Given the description of an element on the screen output the (x, y) to click on. 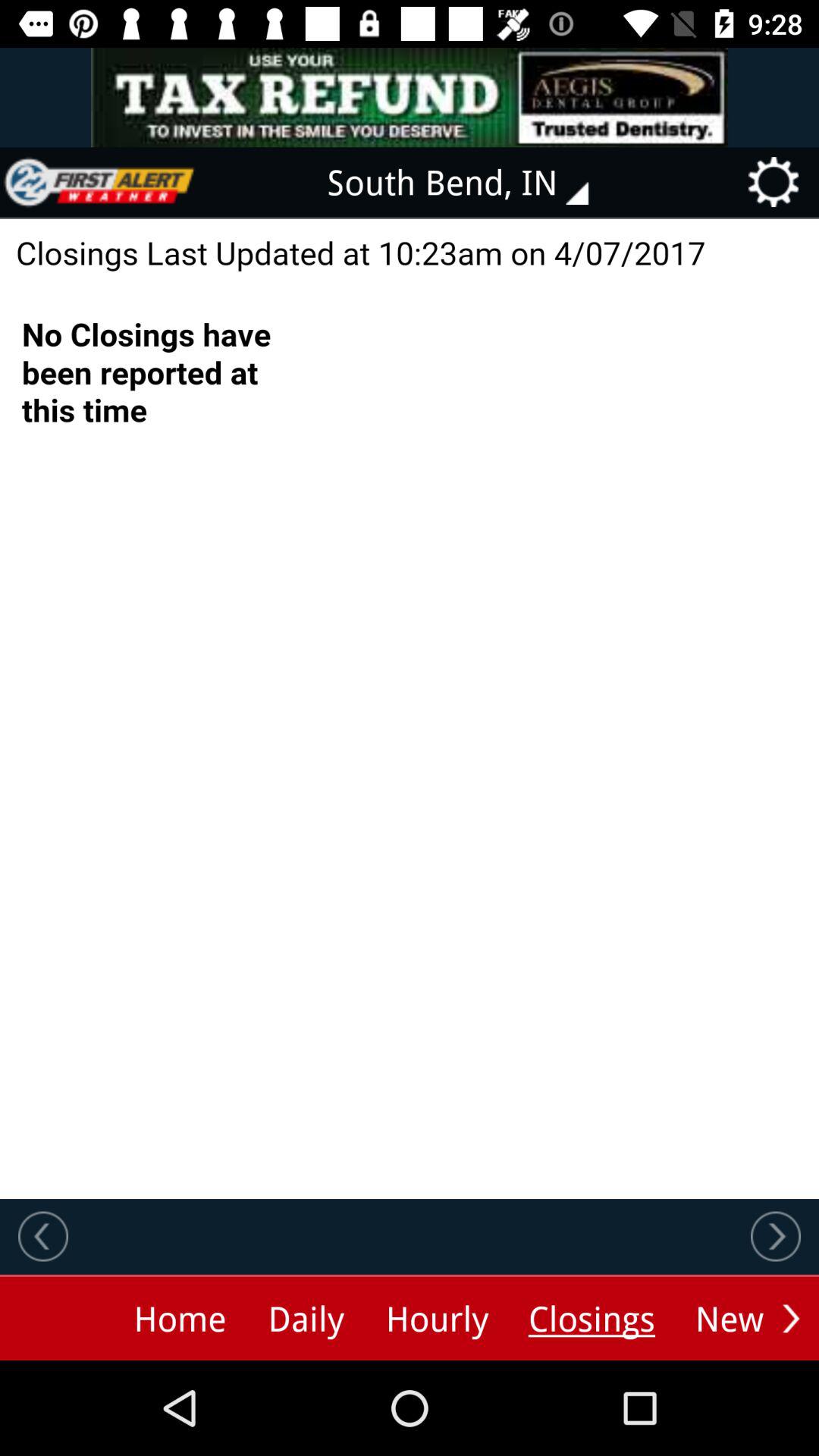
launch the item next to the south bend, in (99, 182)
